Given the description of an element on the screen output the (x, y) to click on. 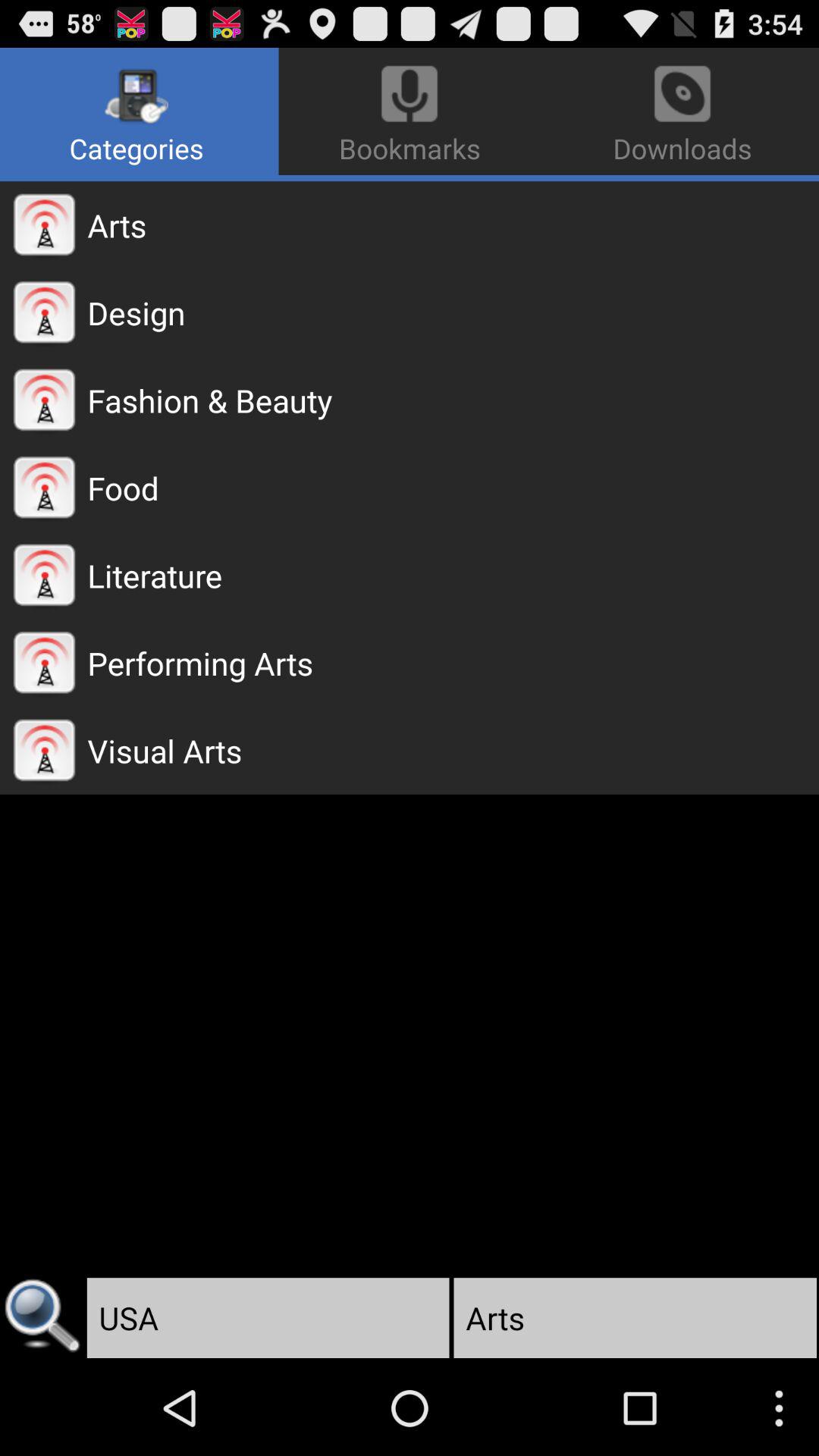
select item at the bottom left corner (42, 1317)
